Given the description of an element on the screen output the (x, y) to click on. 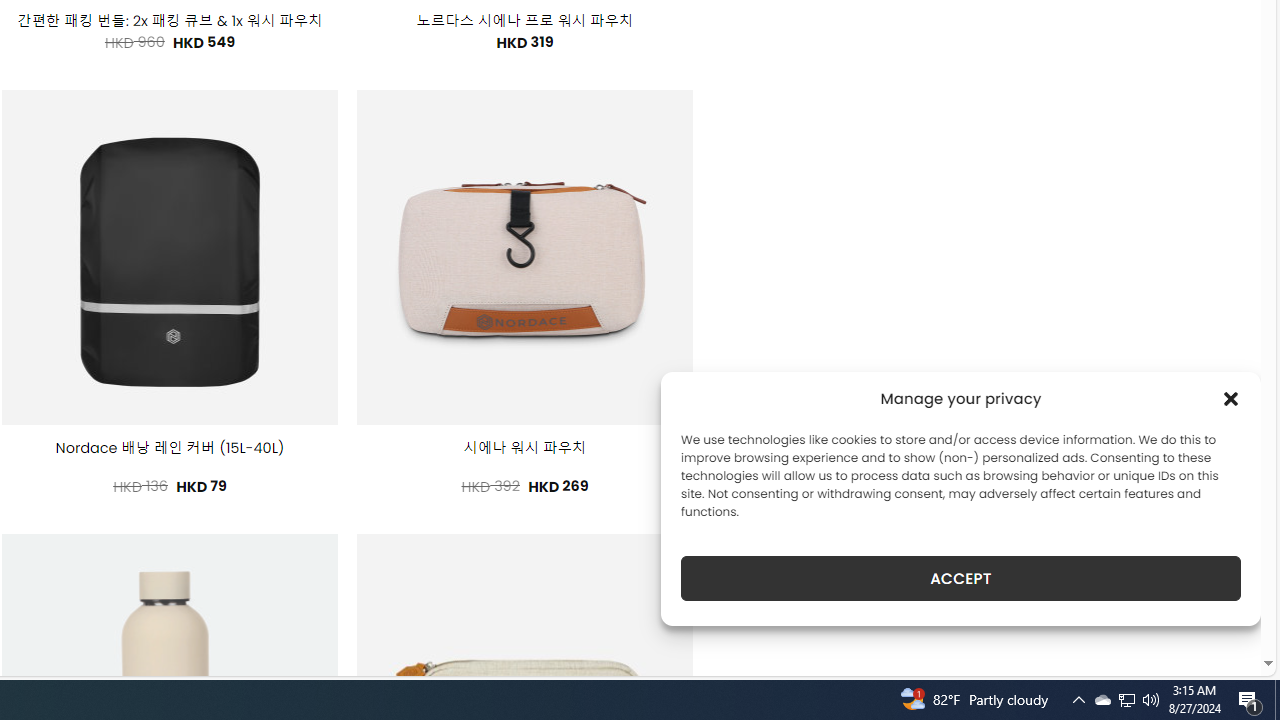
ACCEPT (960, 578)
Class: cmplz-close (1231, 398)
